Given the description of an element on the screen output the (x, y) to click on. 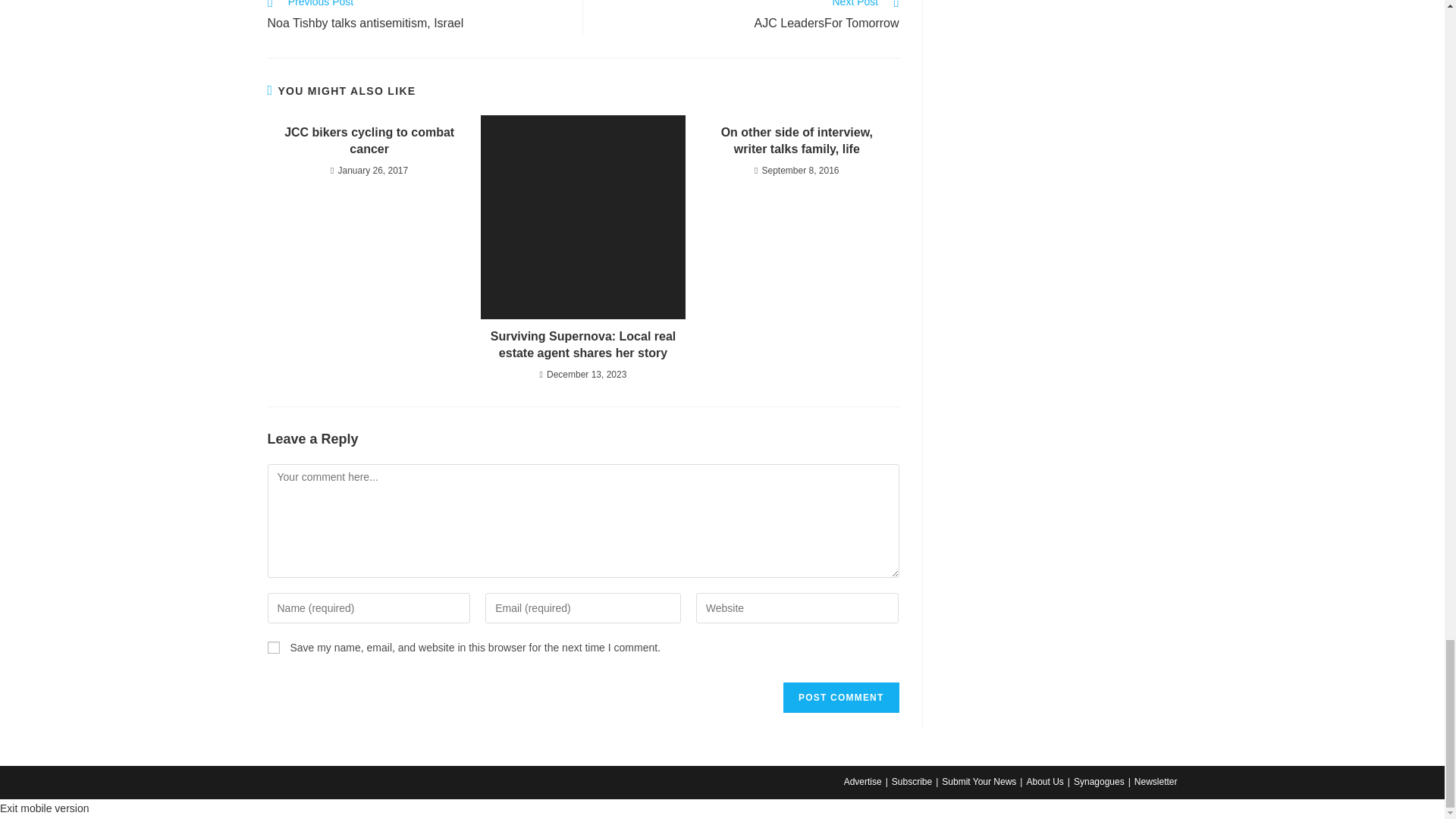
yes (272, 647)
Post Comment (840, 697)
